Given the description of an element on the screen output the (x, y) to click on. 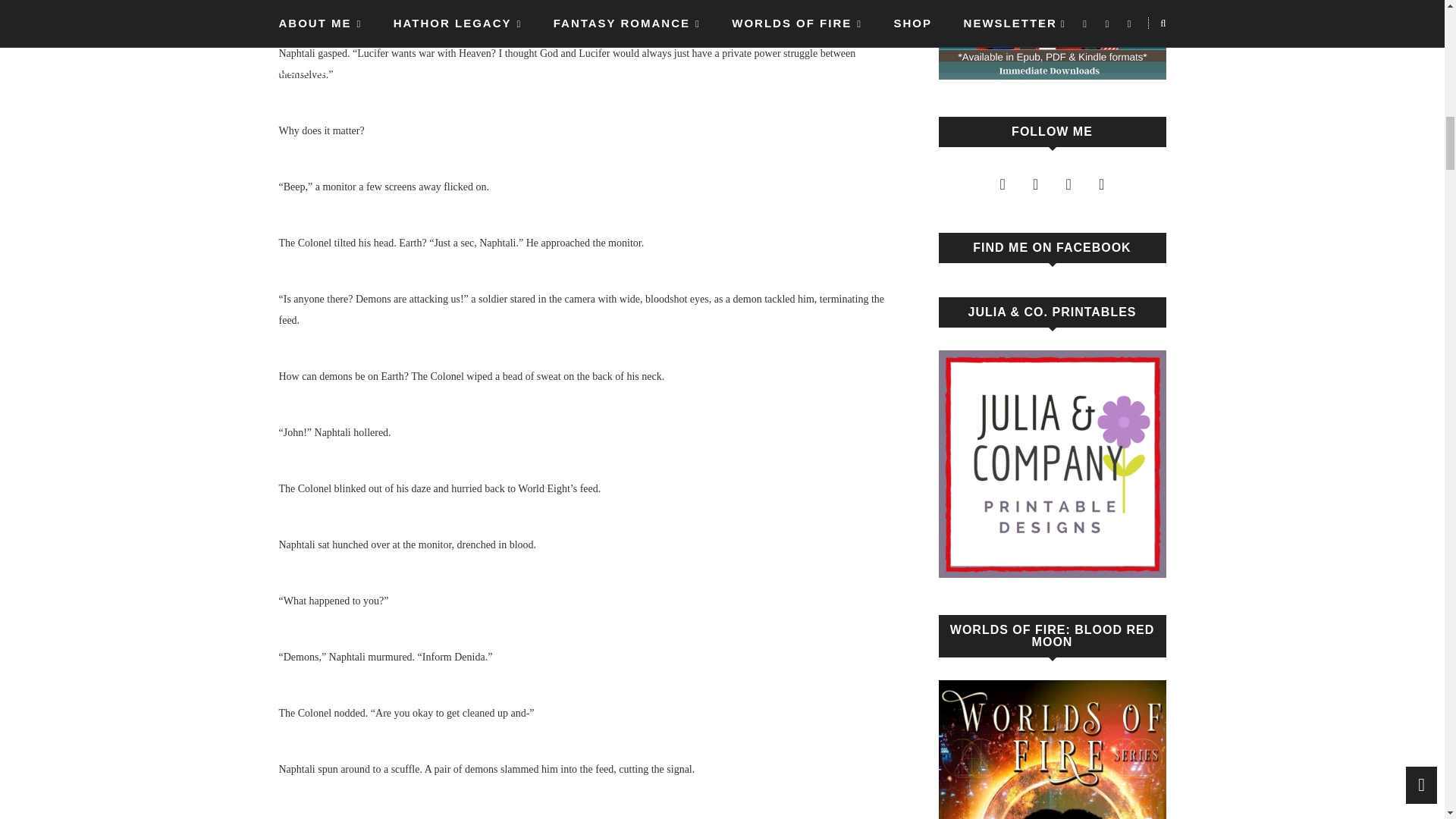
Latest Release: Buy Worlds of Fire: Blood Red Moon (1052, 749)
